Given the description of an element on the screen output the (x, y) to click on. 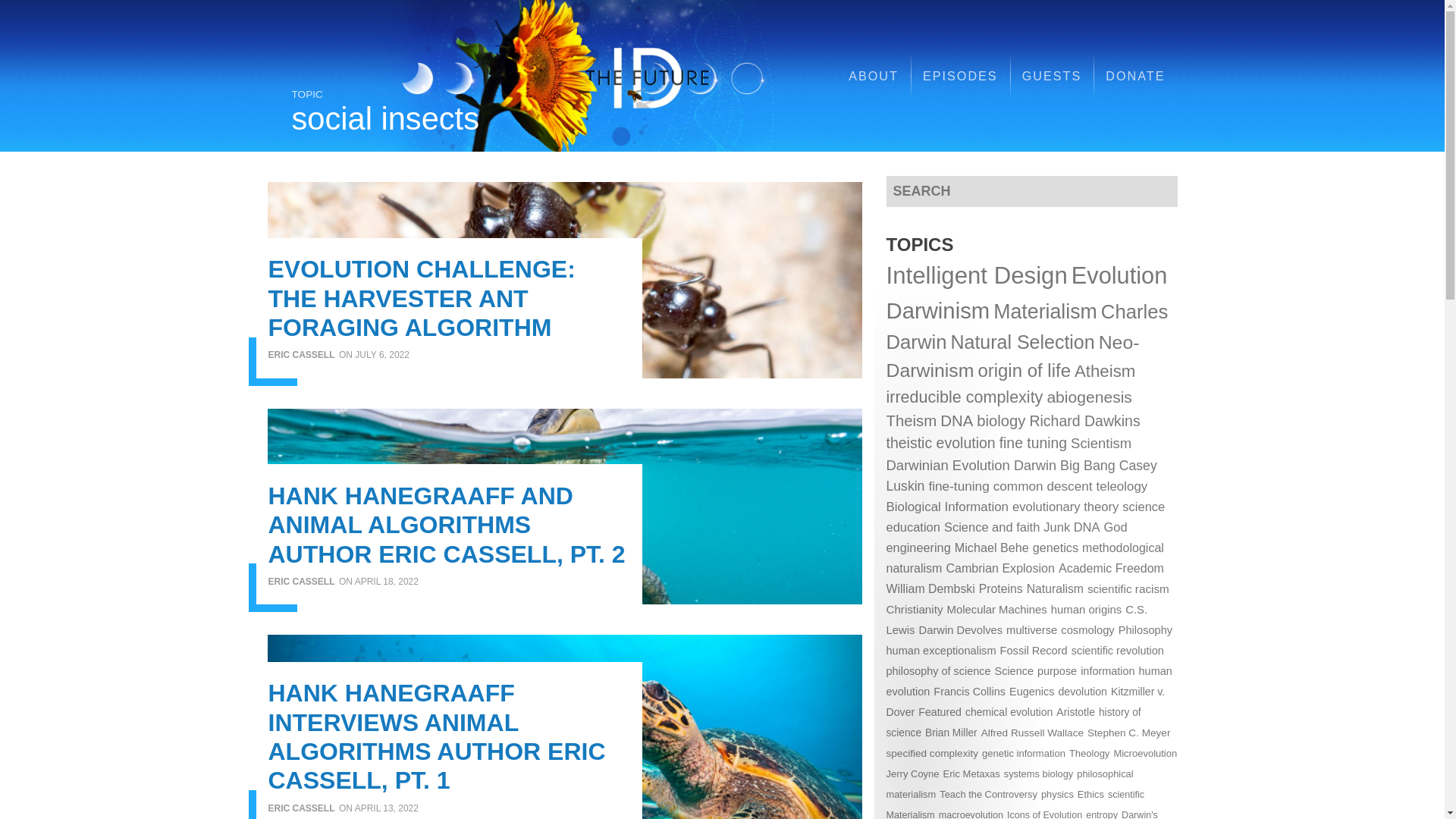
EVOLUTION CHALLENGE: THE HARVESTER ANT FORAGING ALGORITHM (421, 298)
DONATE (1134, 75)
GUESTS (1052, 75)
ID THE FUTURE (611, 75)
ABOUT (873, 75)
EPISODES (960, 75)
